Given the description of an element on the screen output the (x, y) to click on. 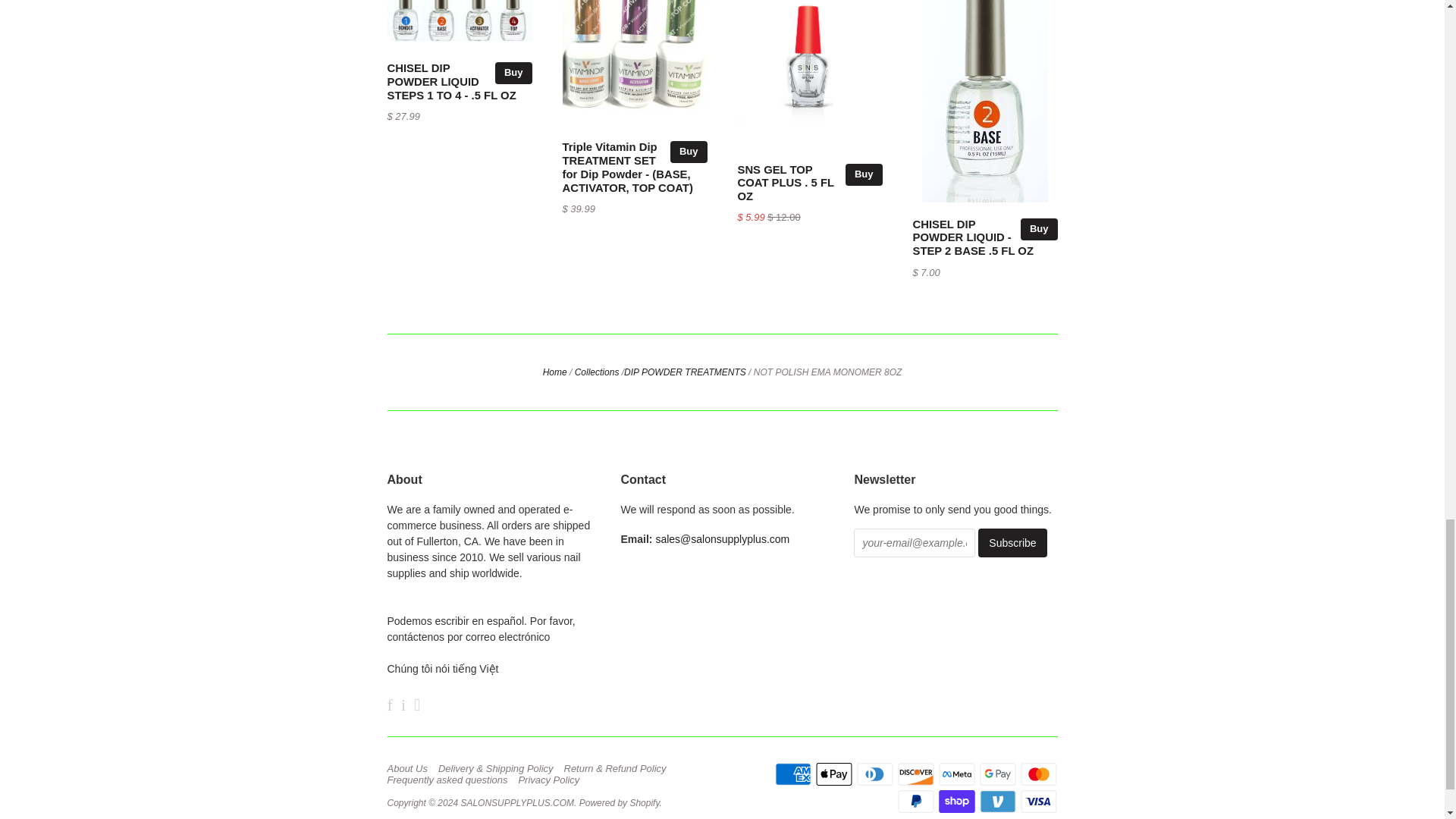
Privacy Policy (552, 779)
Frequently asked questions (451, 779)
About Us (410, 768)
Subscribe (1012, 542)
